Given the description of an element on the screen output the (x, y) to click on. 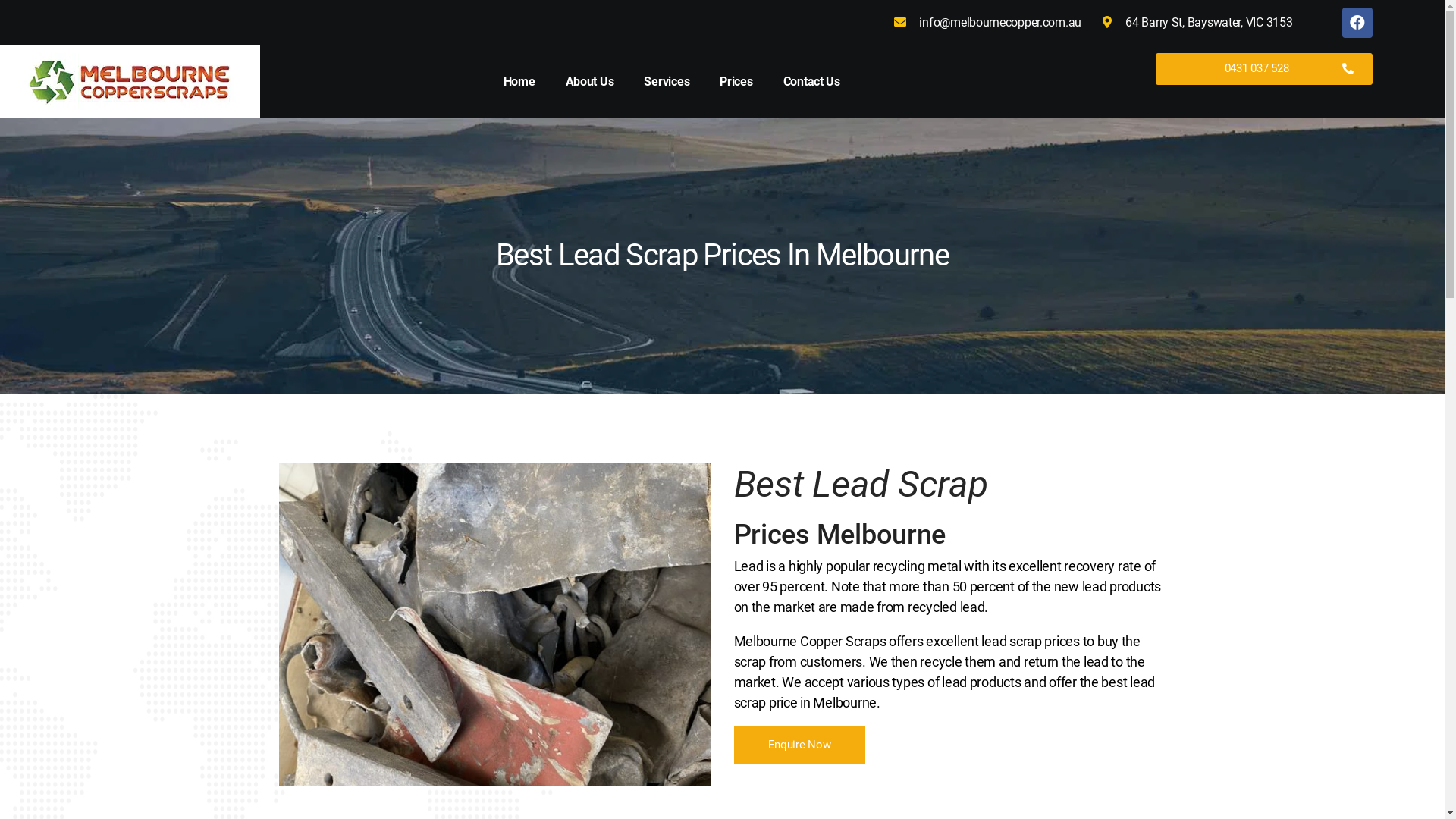
0431 037 528 Element type: text (1263, 68)
Home Element type: text (519, 80)
info@melbournecopper.com.au Element type: text (985, 22)
Services Element type: text (666, 80)
64 Barry St, Bayswater, VIC 3153 Element type: text (1194, 22)
Enquire Now Element type: text (799, 744)
thumbnail_image_67231745 Element type: hover (495, 624)
Contact Us Element type: text (811, 80)
About Us Element type: text (589, 80)
Prices Element type: text (735, 80)
